Given the description of an element on the screen output the (x, y) to click on. 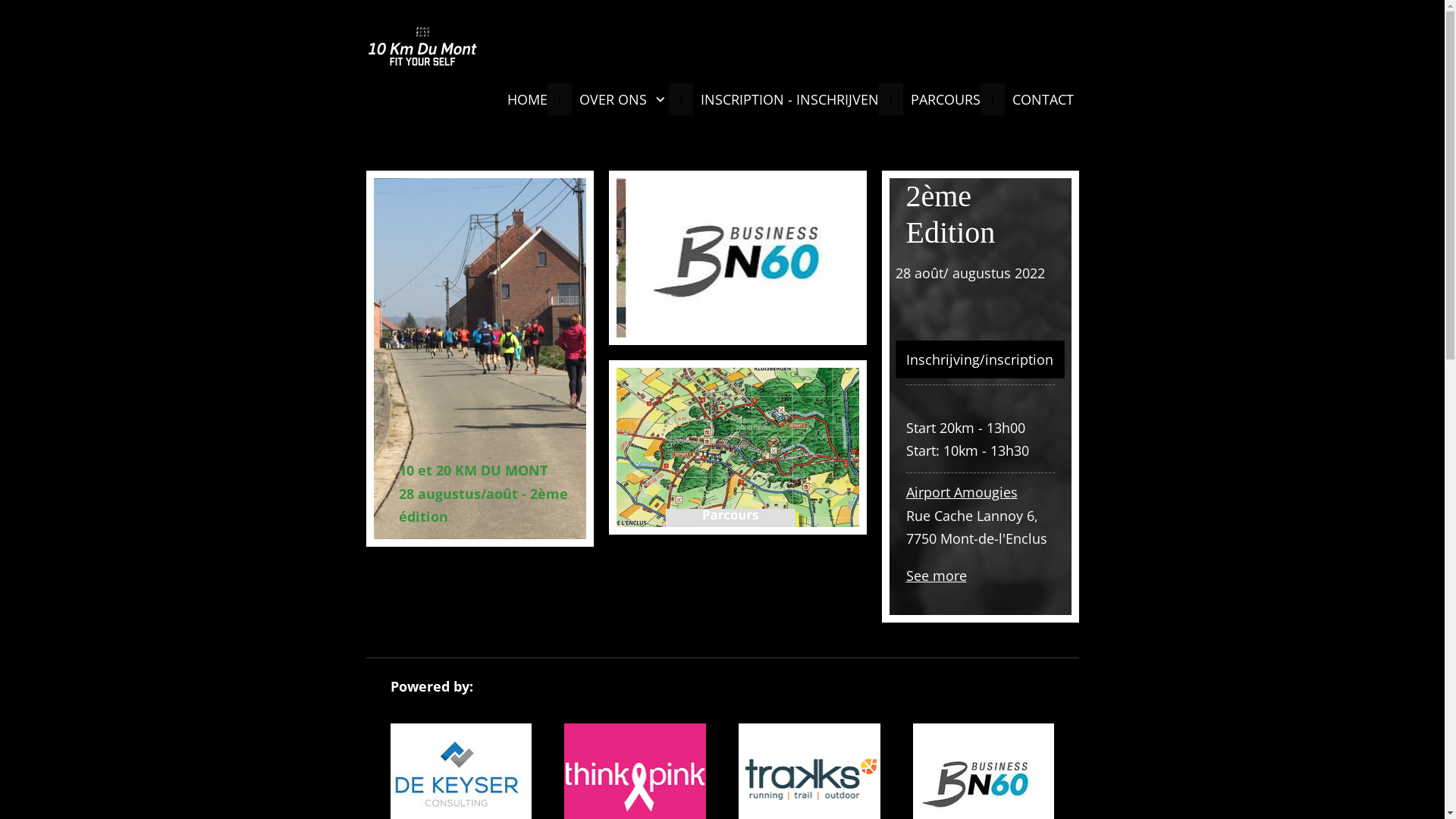
CONTACT Element type: text (1038, 99)
  Element type: text (979, 184)
HOME Element type: text (523, 99)
OVER ONS Element type: text (619, 99)
See more Element type: text (935, 575)
Airport Amougies Element type: text (960, 492)
INSCRIPTION - INSCHRIJVEN Element type: text (785, 99)
PARCOURS Element type: text (940, 99)
  Element type: text (479, 184)
Inschrijving/inscription Element type: text (979, 359)
